Given the description of an element on the screen output the (x, y) to click on. 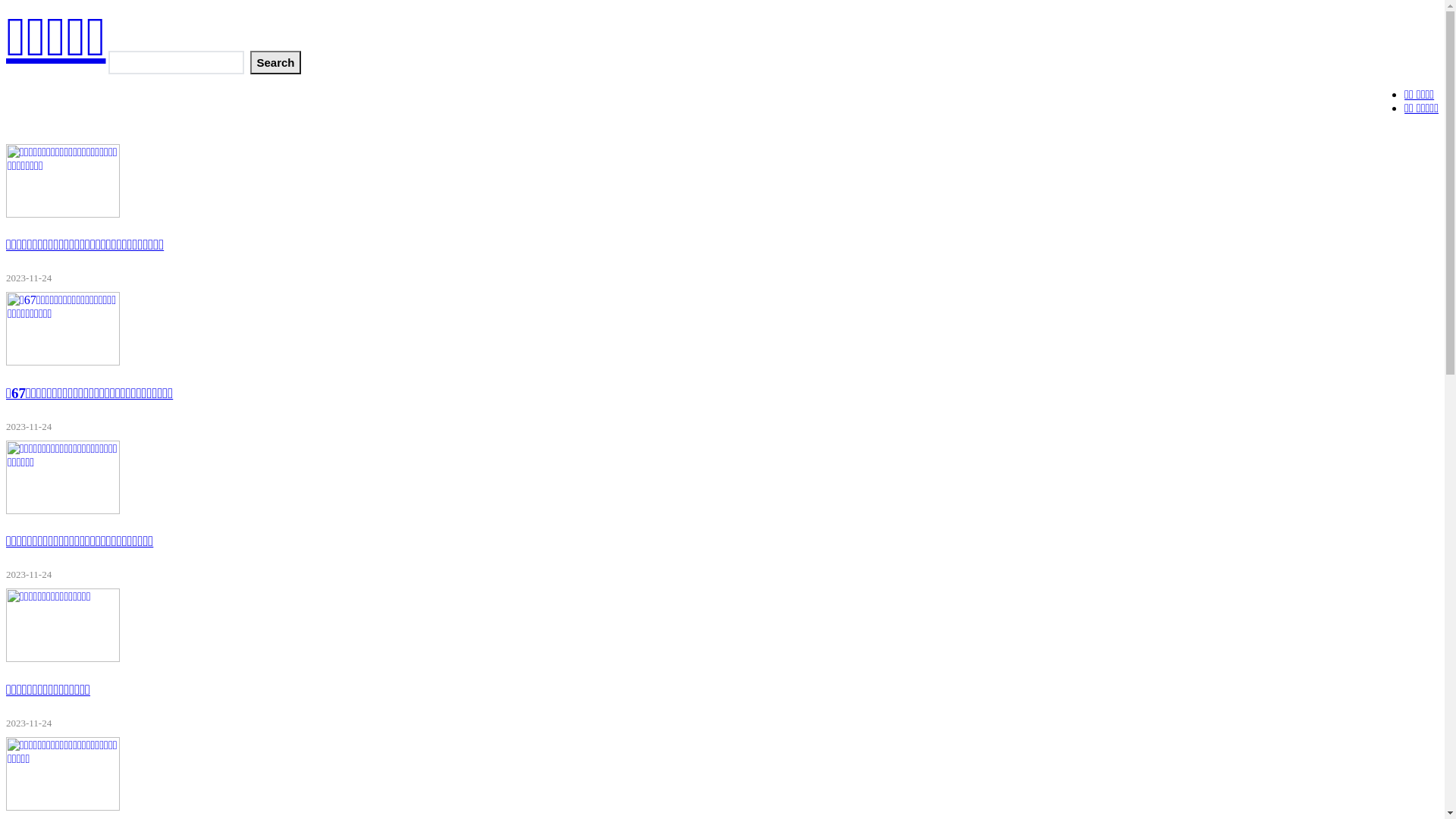
Search Element type: text (275, 62)
